Given the description of an element on the screen output the (x, y) to click on. 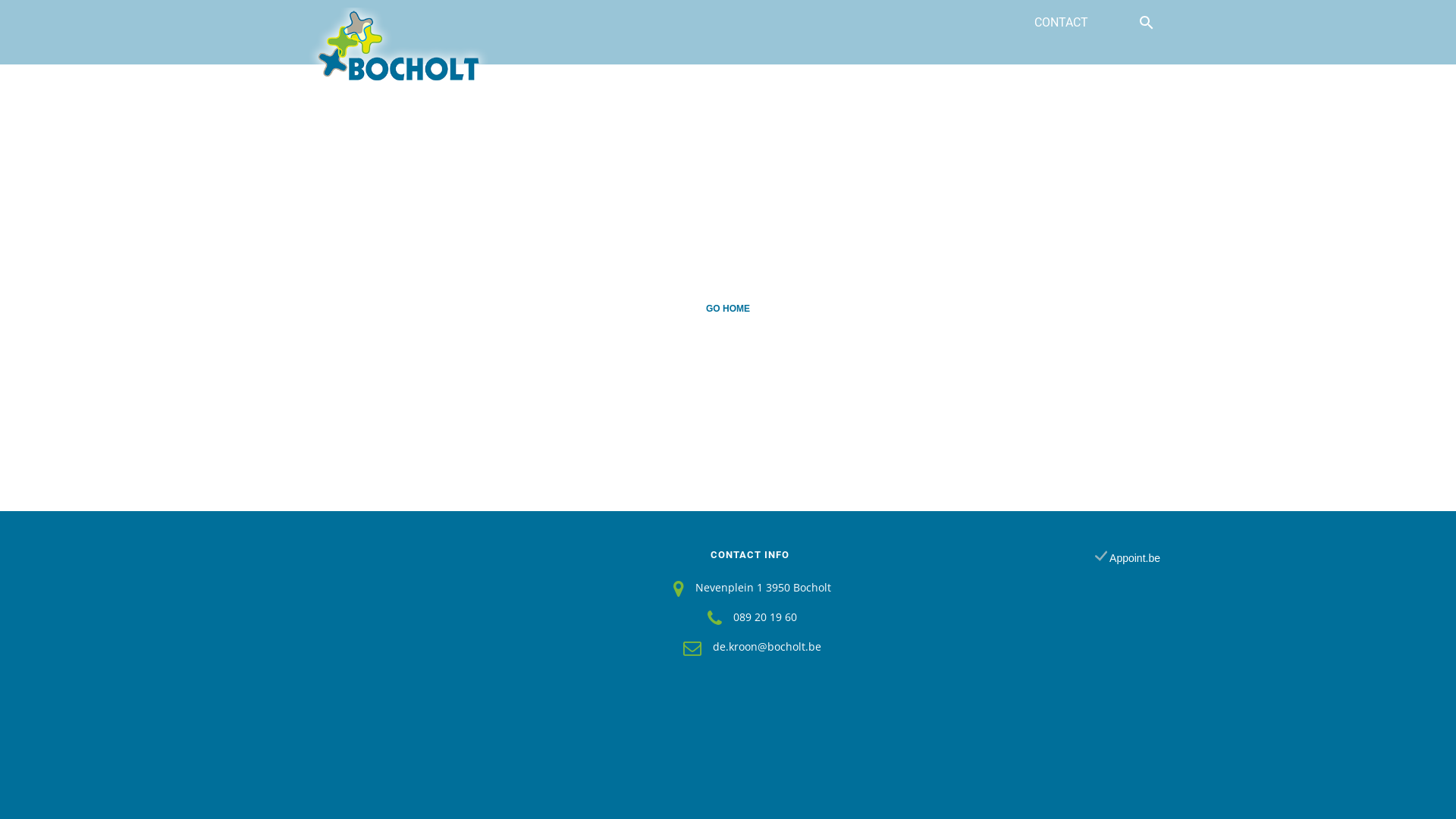
089 20 19 60 Element type: text (765, 615)
GO HOME Element type: text (727, 307)
de.kroon@bocholt.be Element type: text (766, 645)
CONTACT Element type: text (1060, 22)
 Appoint.be Element type: text (1127, 558)
